Given the description of an element on the screen output the (x, y) to click on. 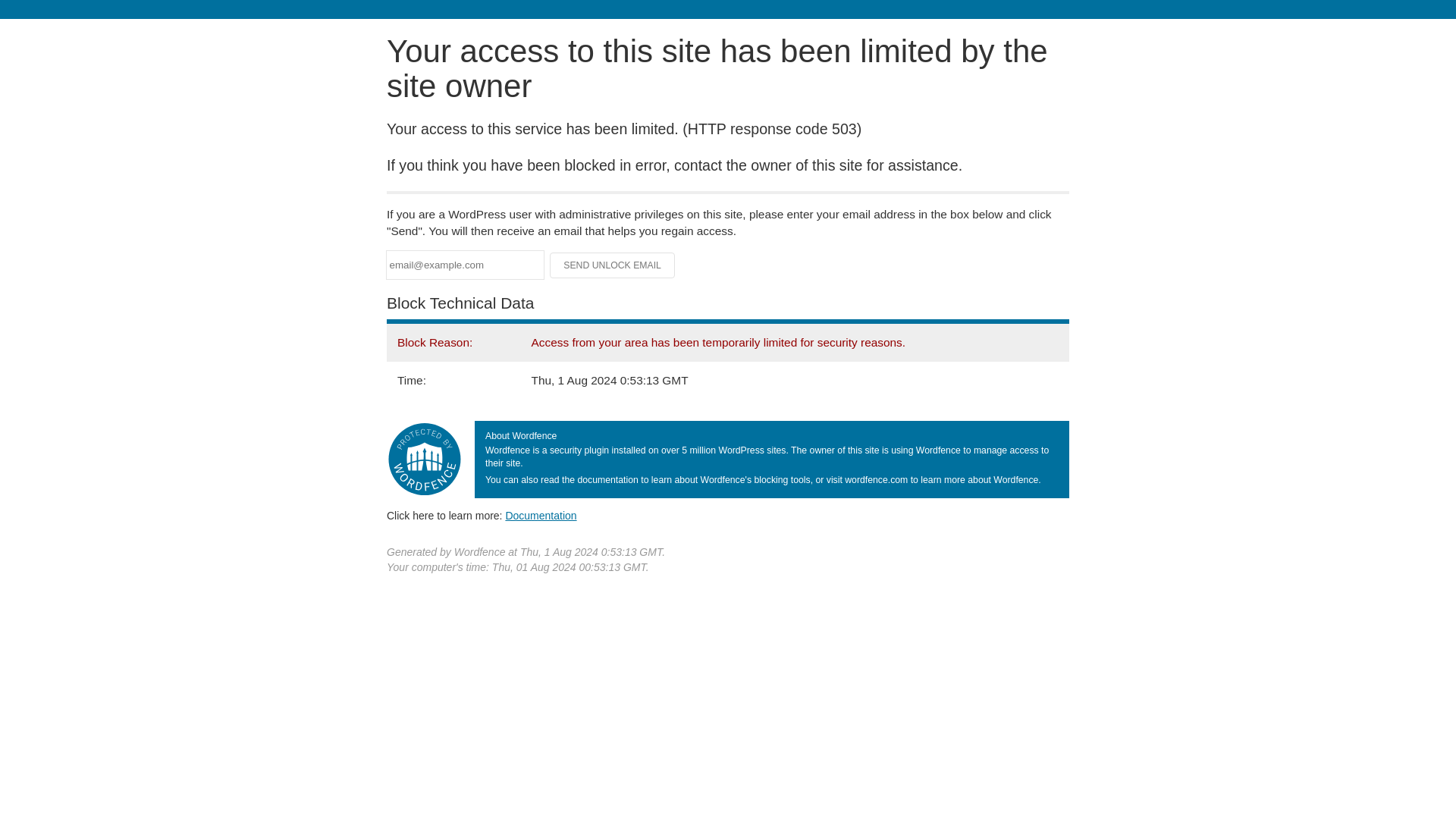
Documentation (540, 515)
Send Unlock Email (612, 265)
Send Unlock Email (612, 265)
